Given the description of an element on the screen output the (x, y) to click on. 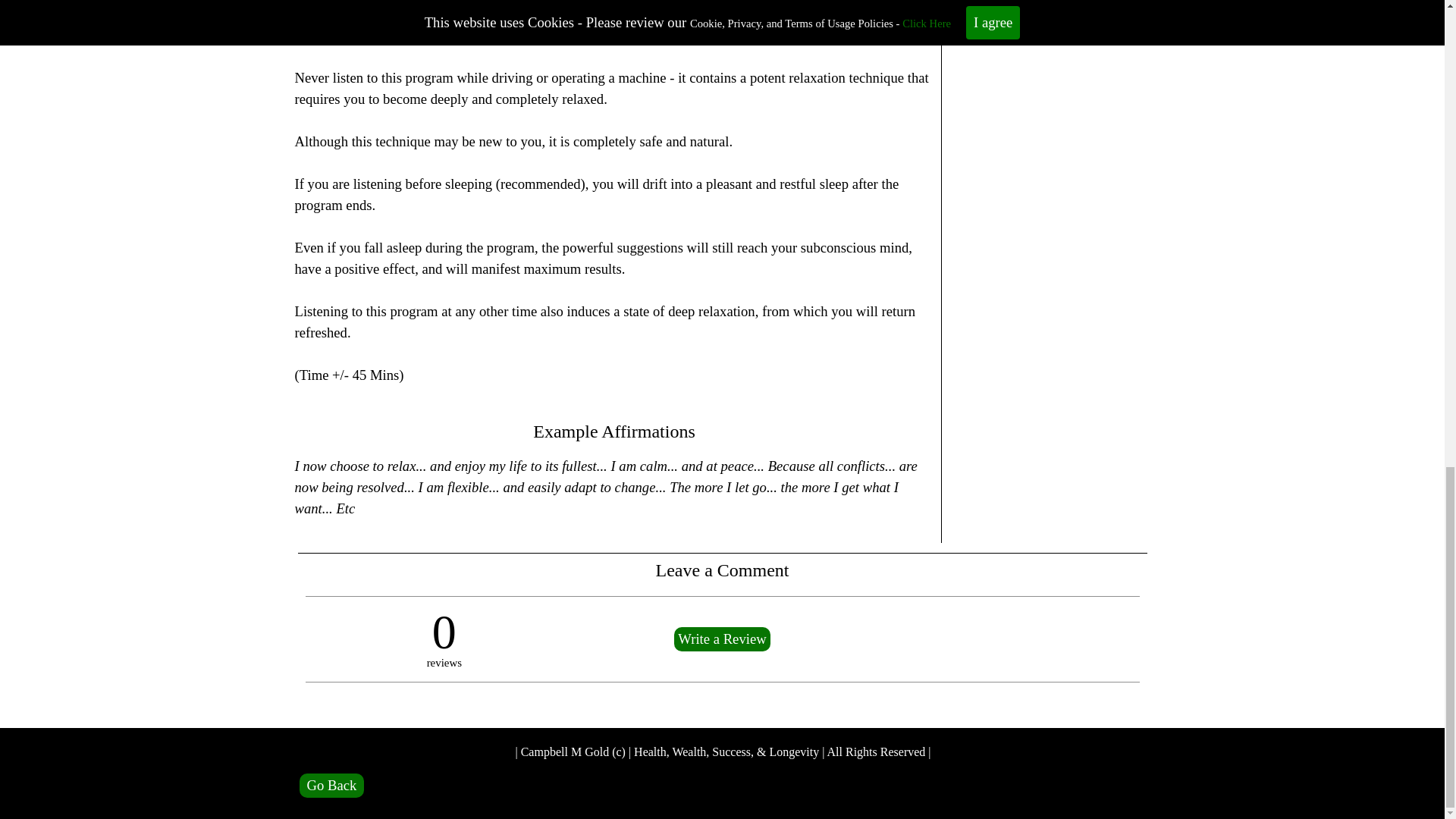
Write a Review (722, 639)
 Go Back  (331, 785)
